Given the description of an element on the screen output the (x, y) to click on. 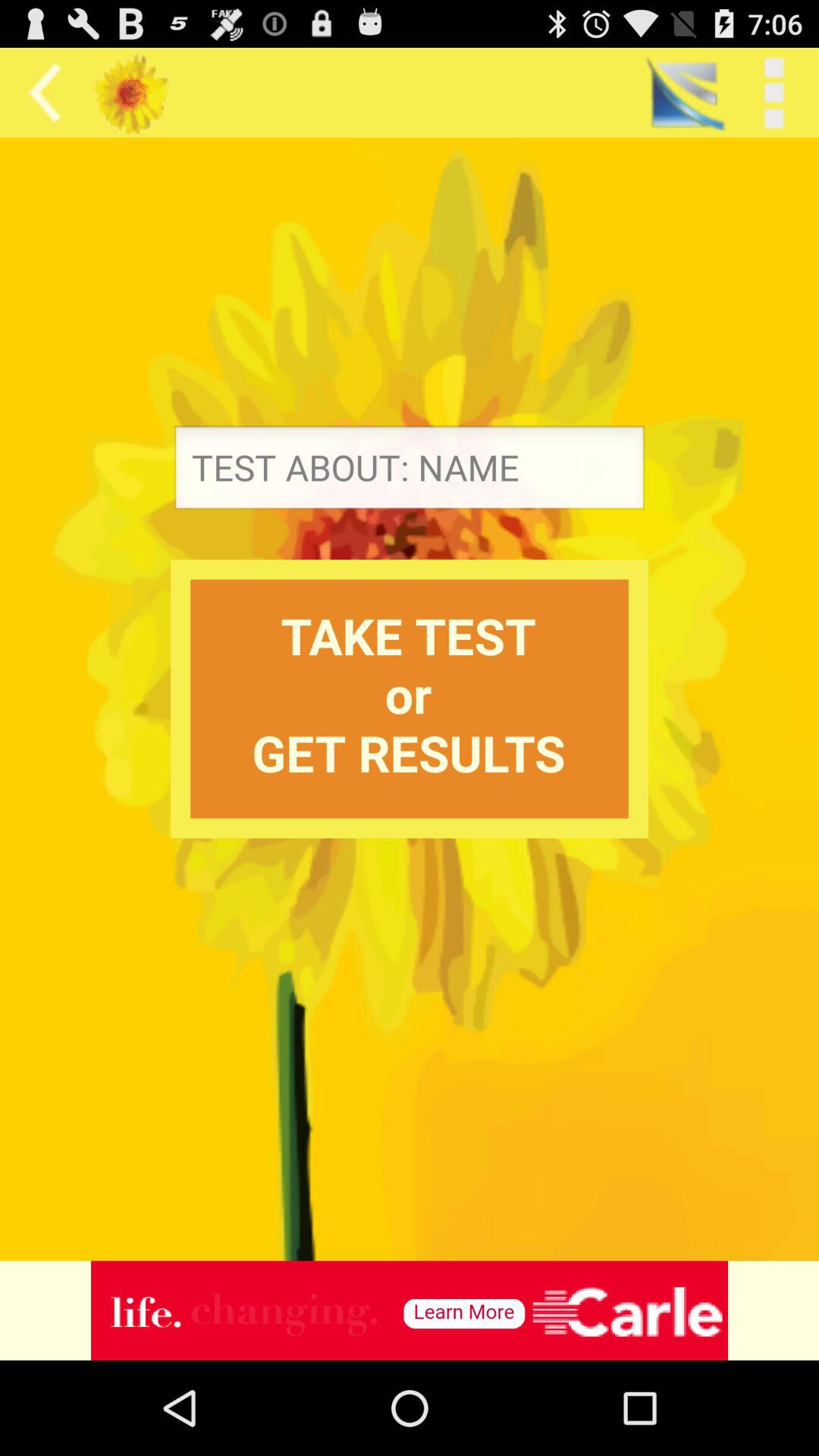
advertisement (409, 1310)
